Given the description of an element on the screen output the (x, y) to click on. 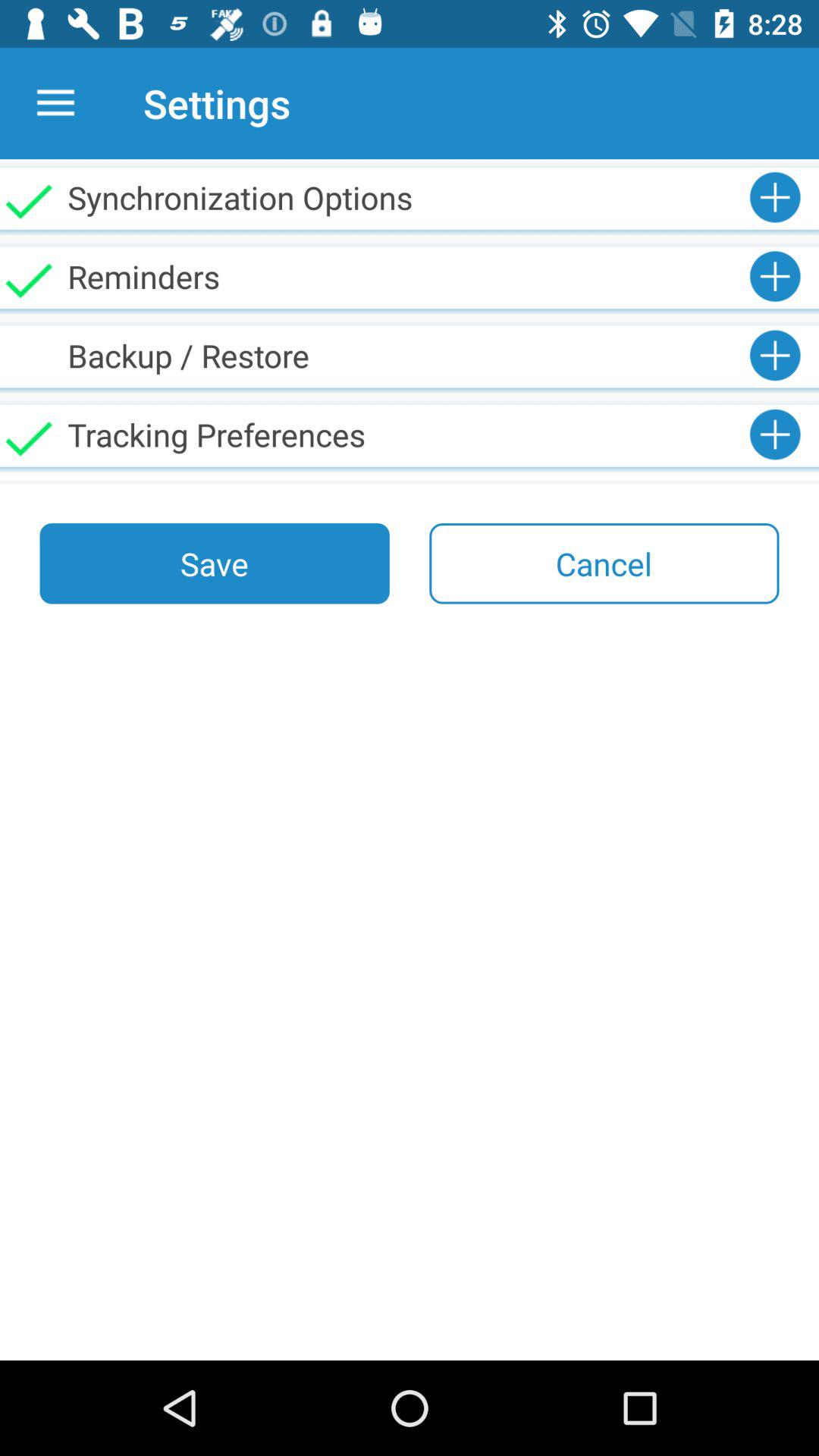
open item next to the save item (604, 563)
